Given the description of an element on the screen output the (x, y) to click on. 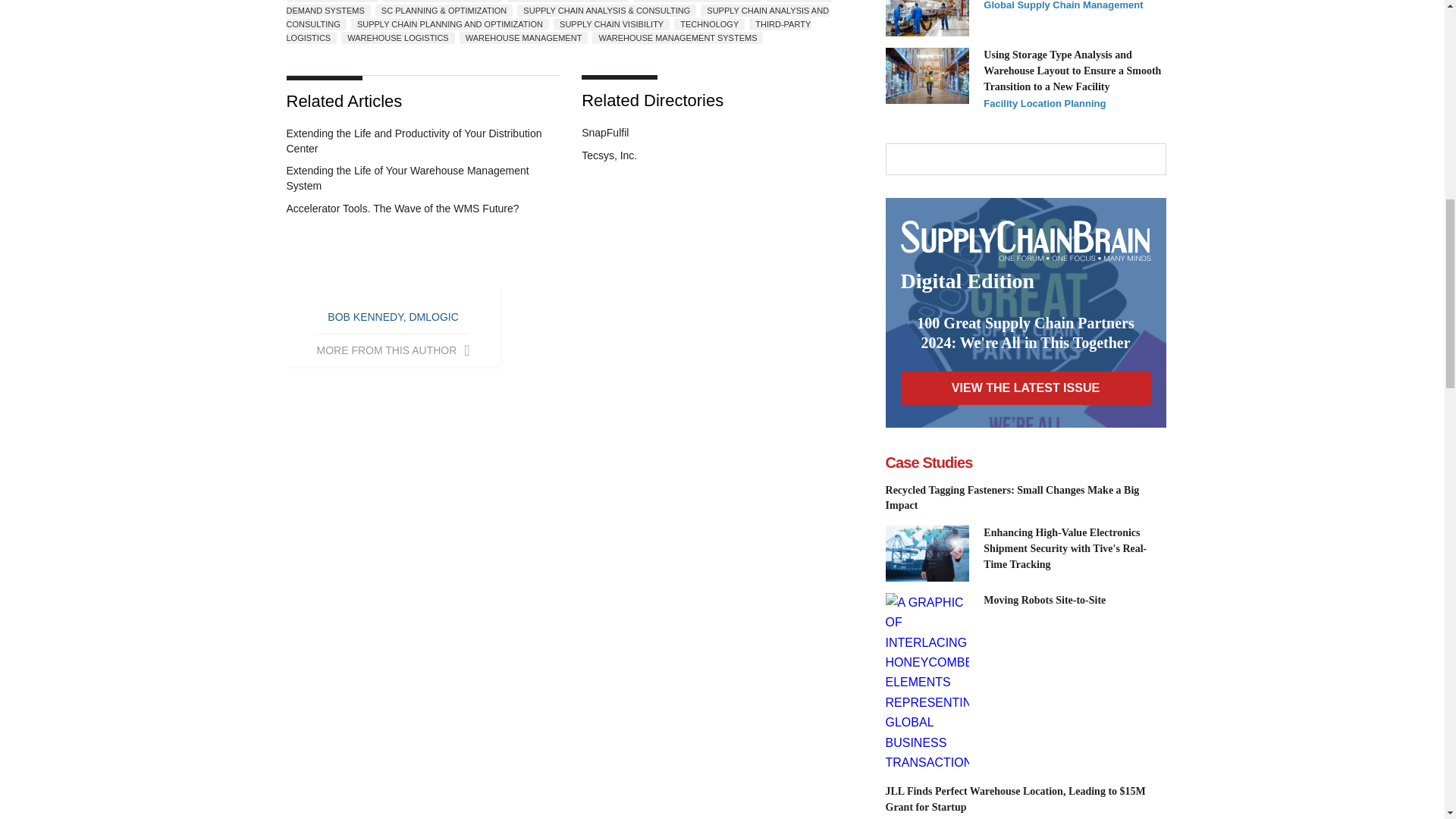
P65 TIVE.jpg (927, 553)
CHINA CAR MANUFACTURING iStock- Jenson -1141363948.jpg (927, 18)
